Given the description of an element on the screen output the (x, y) to click on. 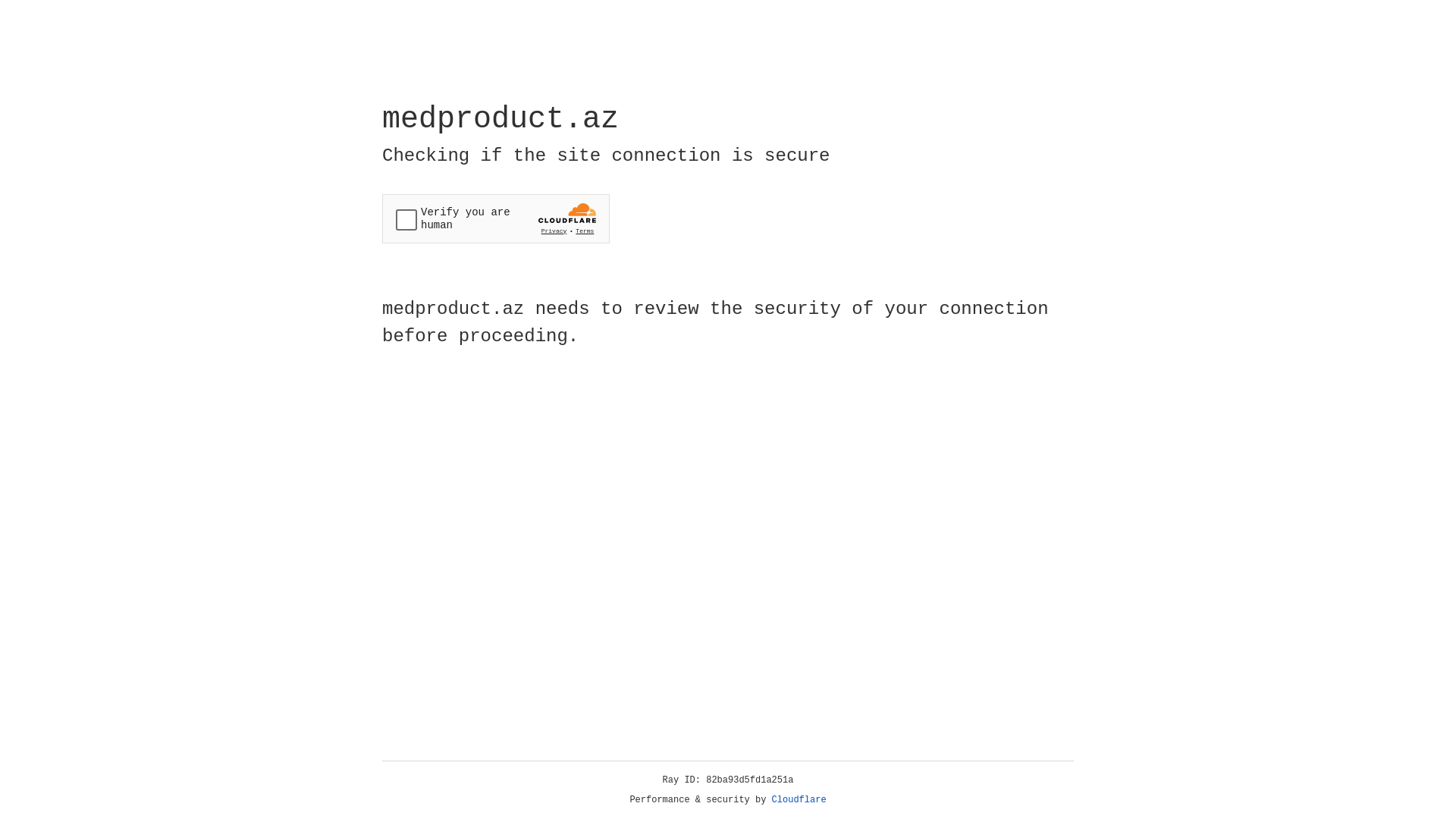
Cloudflare Element type: text (798, 799)
Widget containing a Cloudflare security challenge Element type: hover (495, 218)
